Given the description of an element on the screen output the (x, y) to click on. 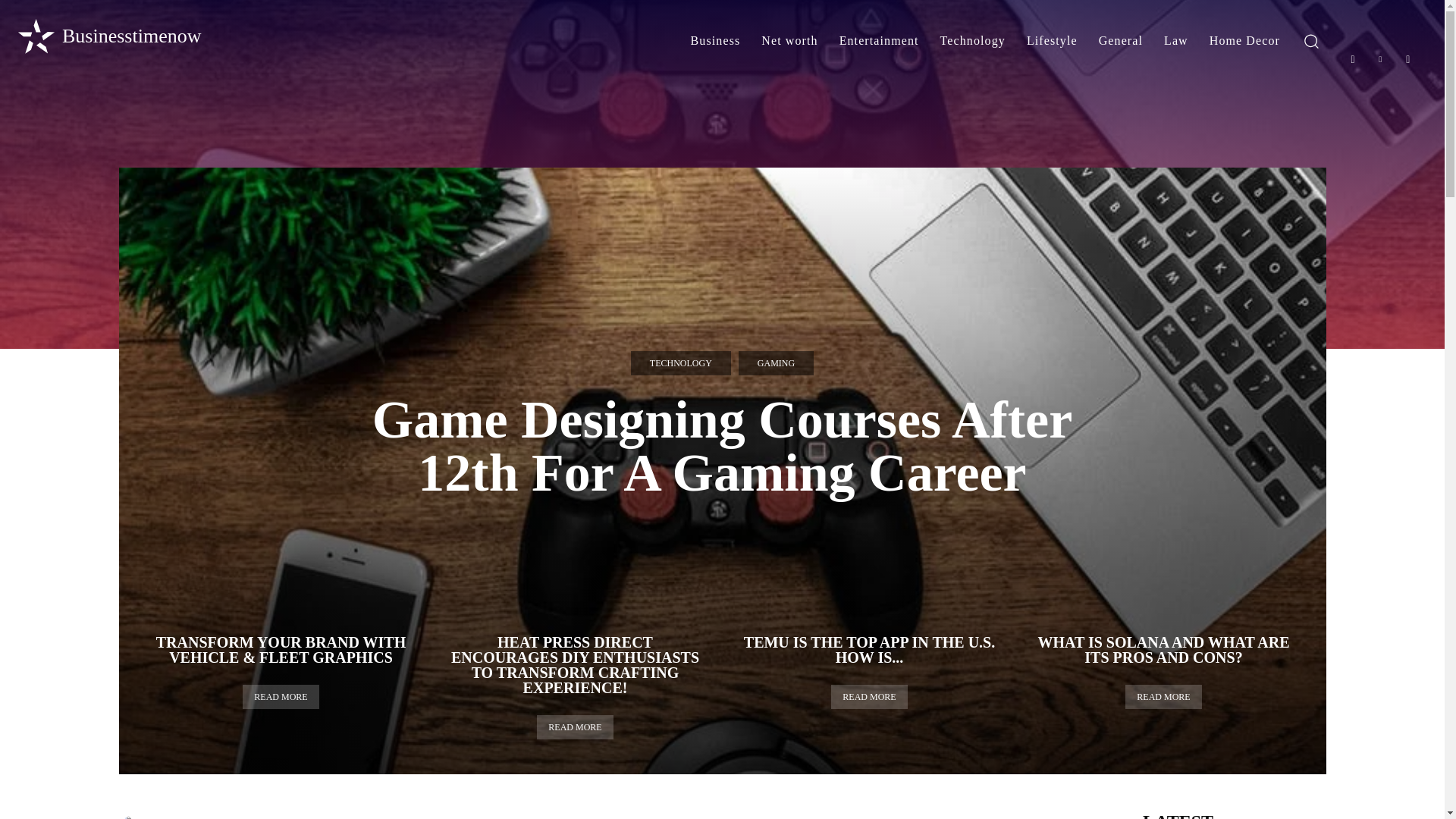
Businesstimenow (107, 36)
Home Decor (1244, 40)
Technology (973, 40)
RSS (1408, 58)
GAMING (775, 362)
Facebook (1353, 58)
Lifestyle (1051, 40)
Entertainment (879, 40)
TECHNOLOGY (680, 362)
Linkedin (1380, 58)
